Given the description of an element on the screen output the (x, y) to click on. 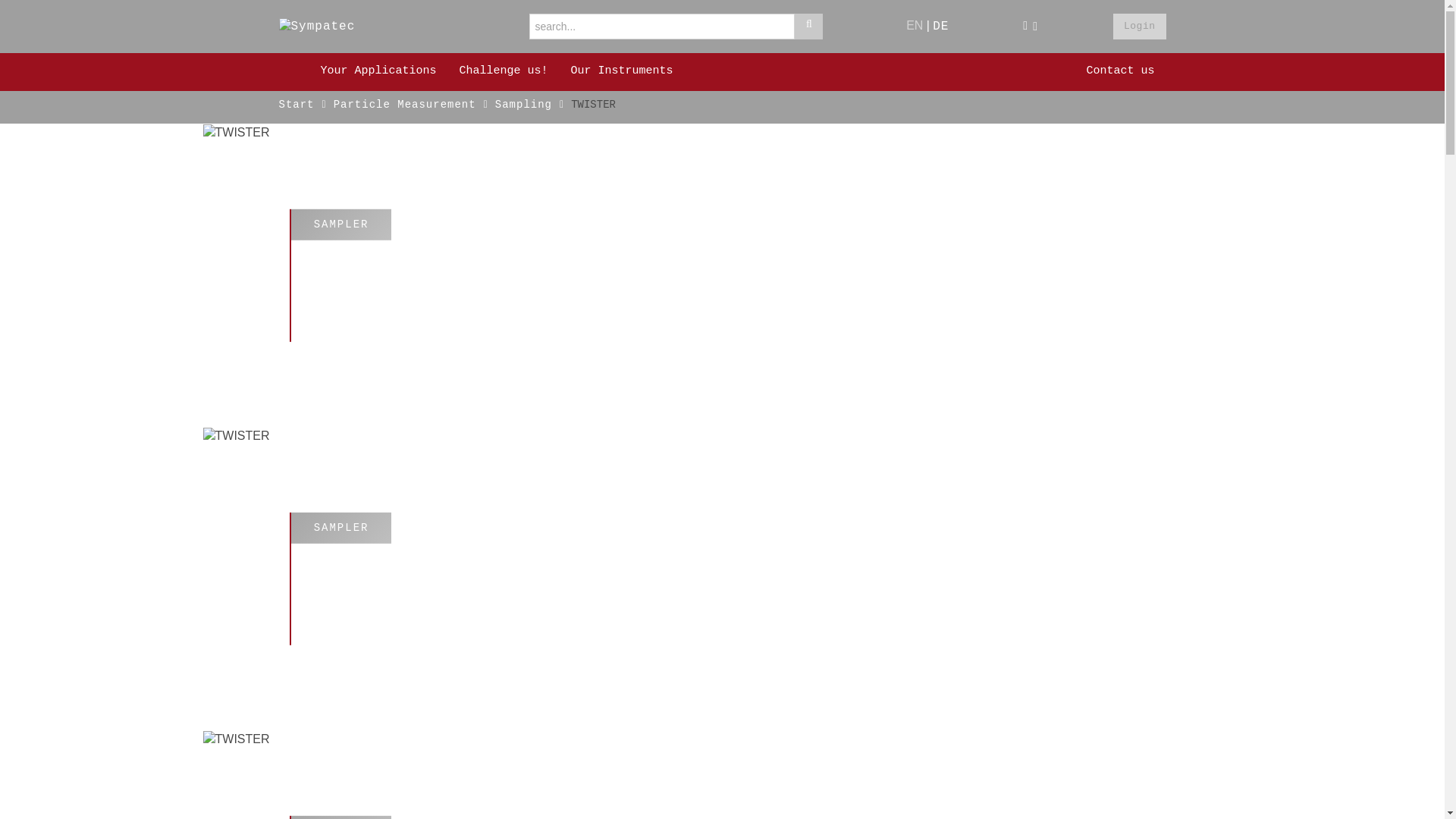
Challenge us! (503, 71)
DE (941, 26)
Contact us (1120, 71)
Your Applications (378, 71)
Our Instruments (621, 71)
Login (1139, 26)
